Given the description of an element on the screen output the (x, y) to click on. 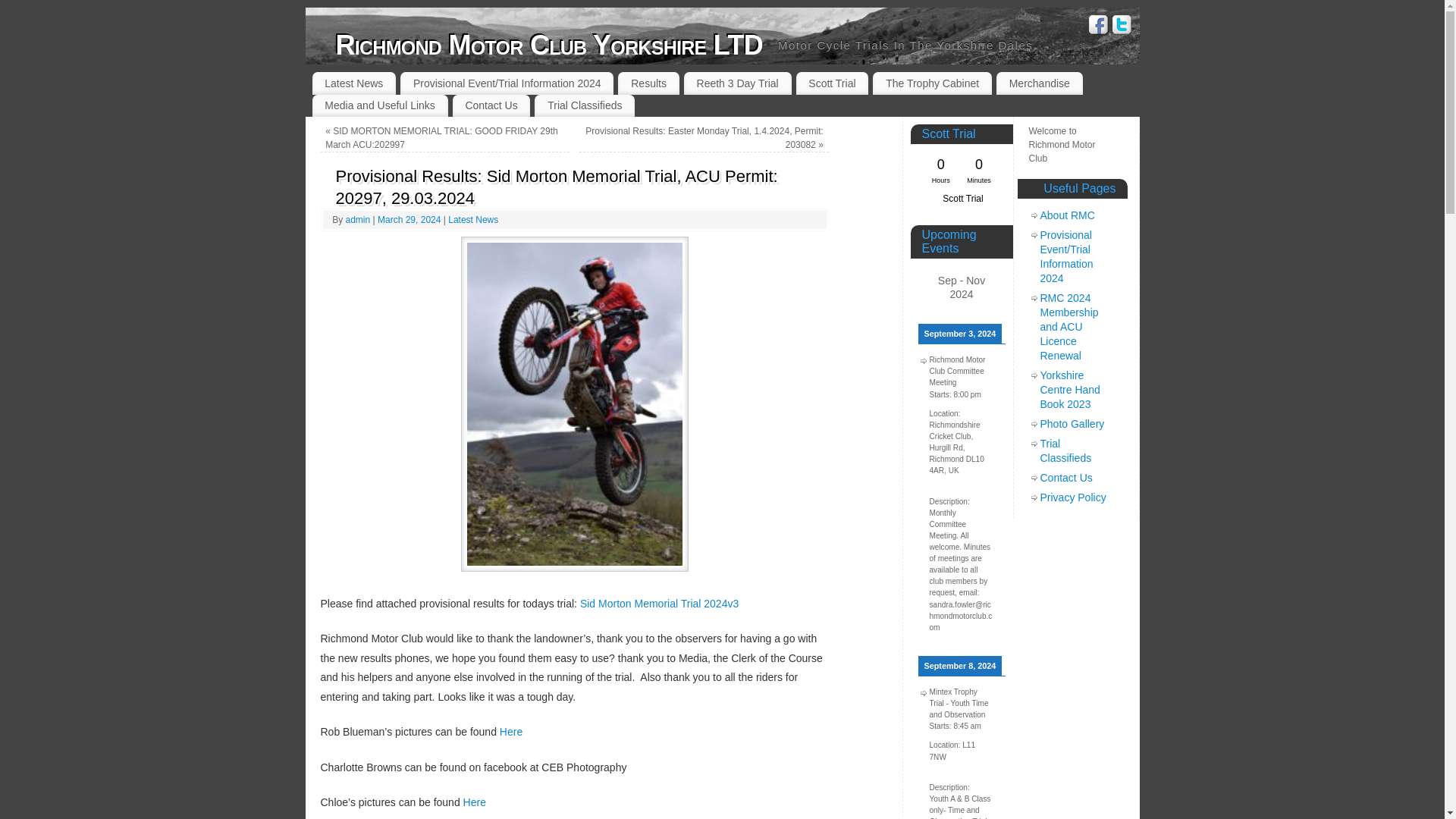
Richmond Motor Club Yorkshire LTD (547, 44)
admin (358, 219)
Previous (925, 287)
Merchandise (1039, 83)
Next (995, 287)
Richmond Motor Club Yorkshire LTD (547, 44)
7:47 pm (410, 219)
Trial Classifieds (584, 106)
Results (647, 83)
Contact Us (491, 106)
